Given the description of an element on the screen output the (x, y) to click on. 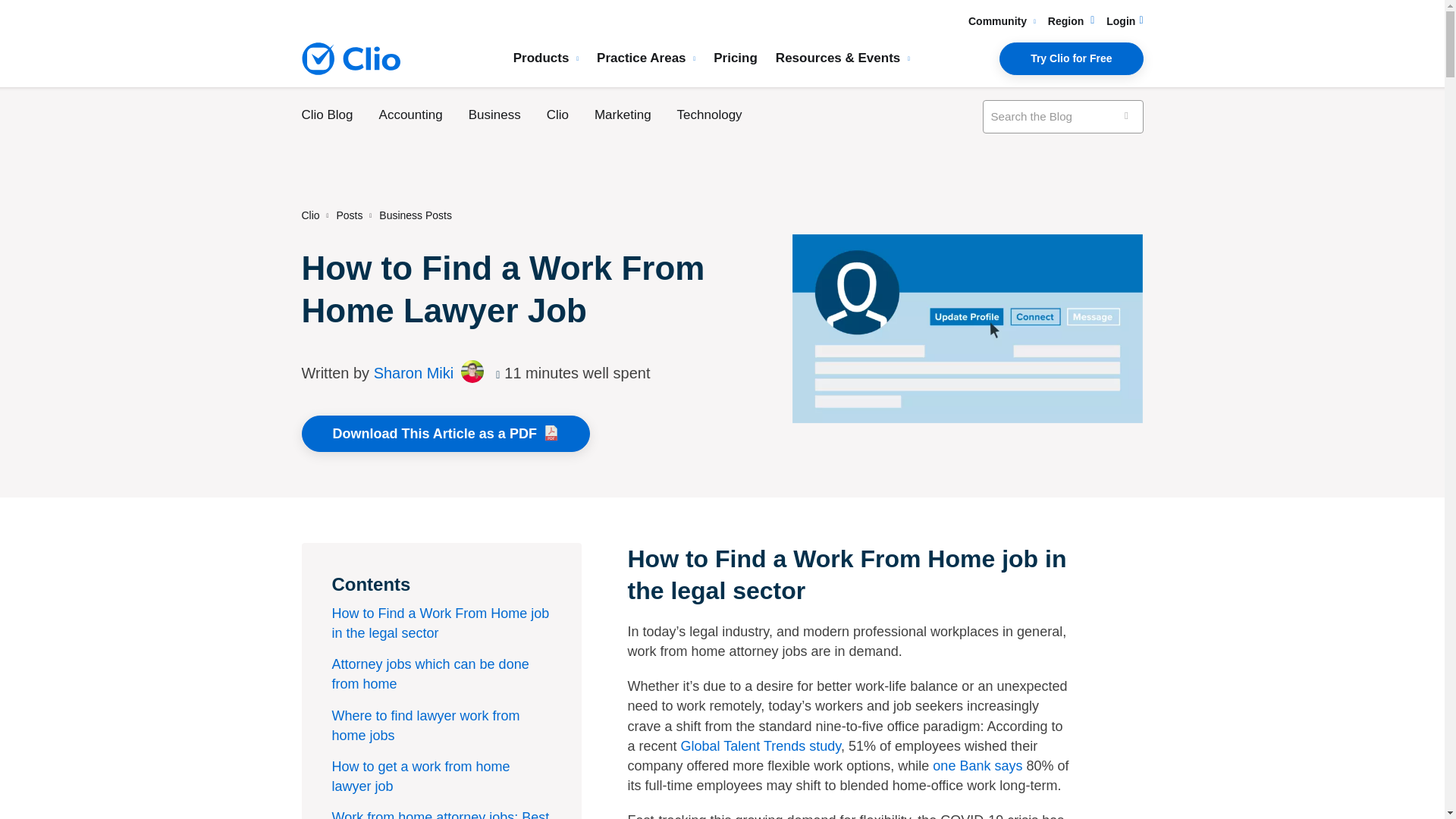
Community (1001, 21)
Attorney work from home job (967, 328)
Clio logo (350, 59)
Login (1124, 21)
Region (1071, 21)
Products (545, 58)
